Given the description of an element on the screen output the (x, y) to click on. 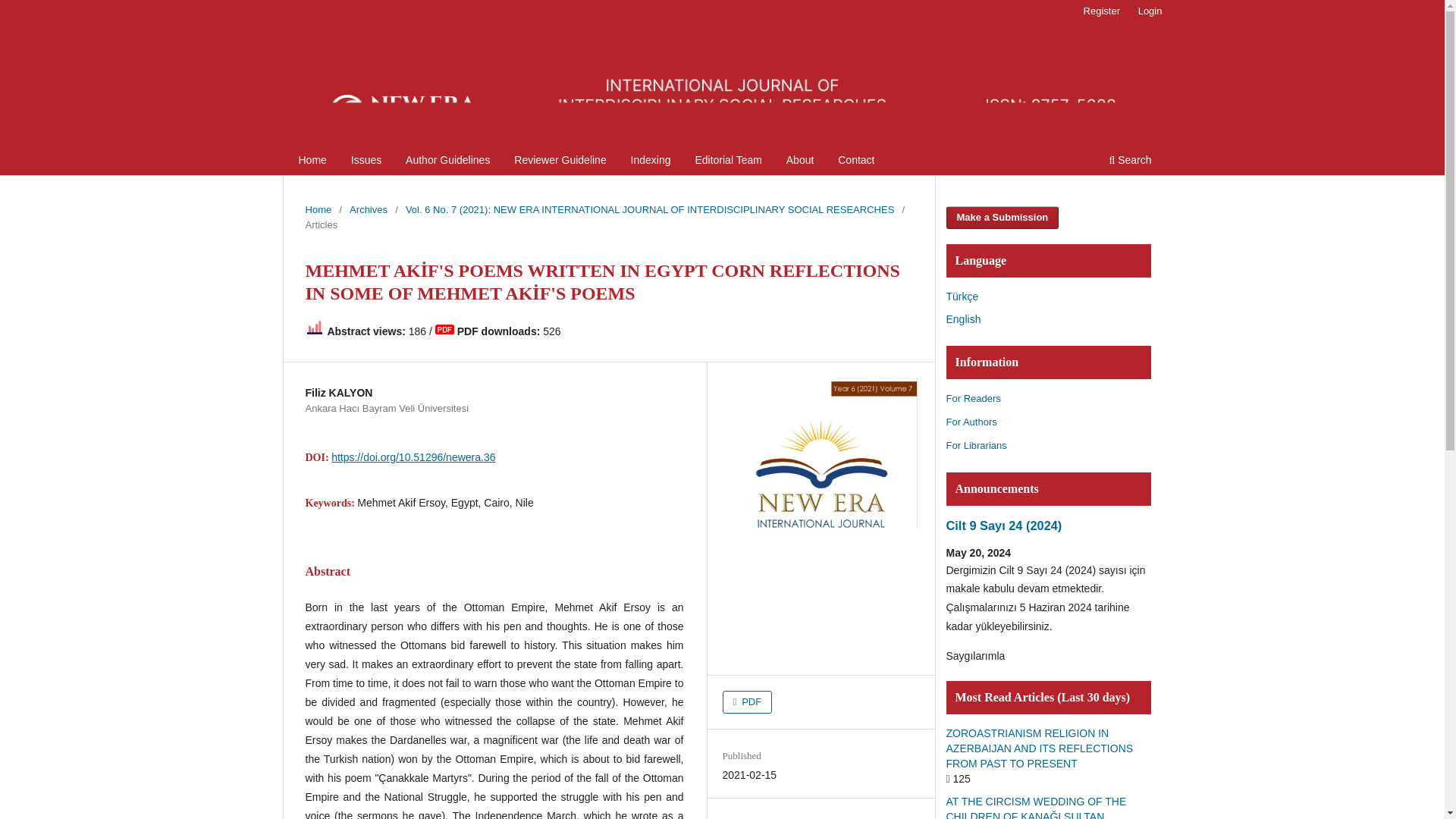
Home (311, 161)
Issues (366, 161)
Archives (368, 209)
About (799, 161)
Register (1100, 11)
Contact (855, 161)
Editorial Team (727, 161)
Login (1150, 11)
Author Guidelines (447, 161)
Search (1129, 161)
